Given the description of an element on the screen output the (x, y) to click on. 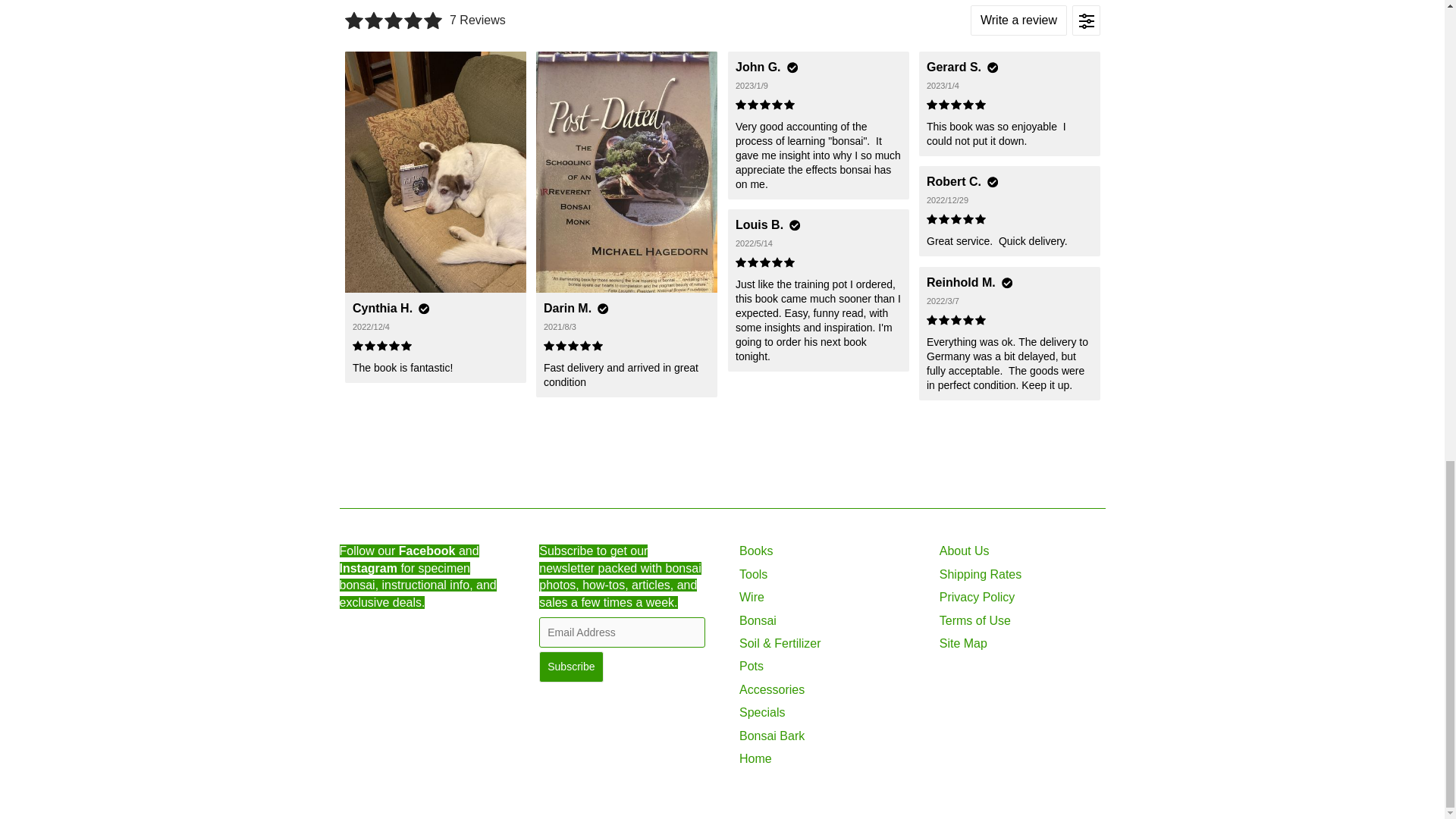
Books (756, 550)
Subscribe (570, 666)
Subscribe (570, 666)
Facebook (426, 550)
Tools (753, 574)
Instagram (368, 567)
